Given the description of an element on the screen output the (x, y) to click on. 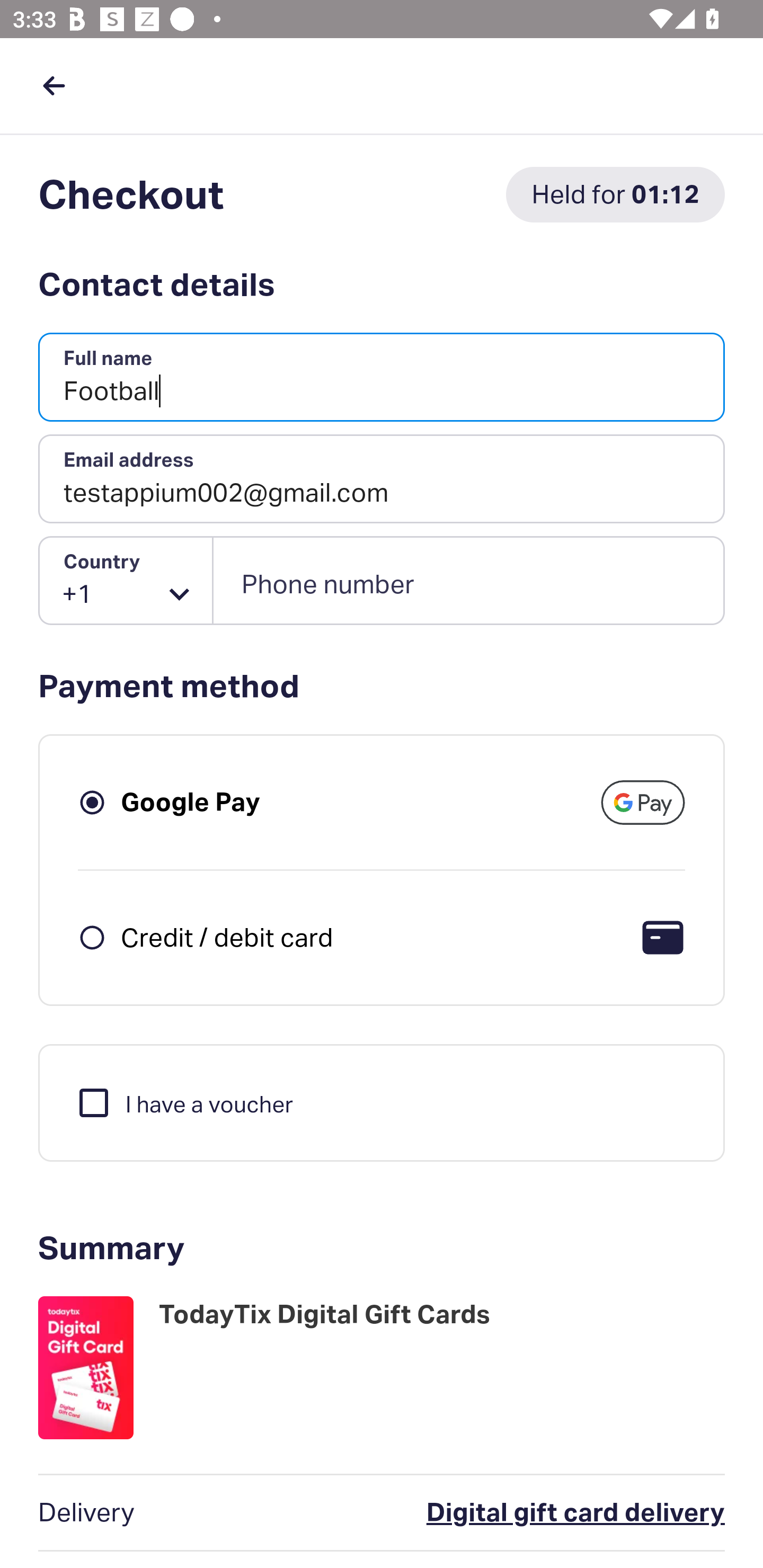
back button (53, 85)
Football (381, 377)
testappium002@gmail.com (381, 478)
  +1 (126, 580)
Google Pay (190, 802)
Credit / debit card (227, 936)
I have a voucher (183, 1101)
Digital gift card delivery (495, 1512)
